Given the description of an element on the screen output the (x, y) to click on. 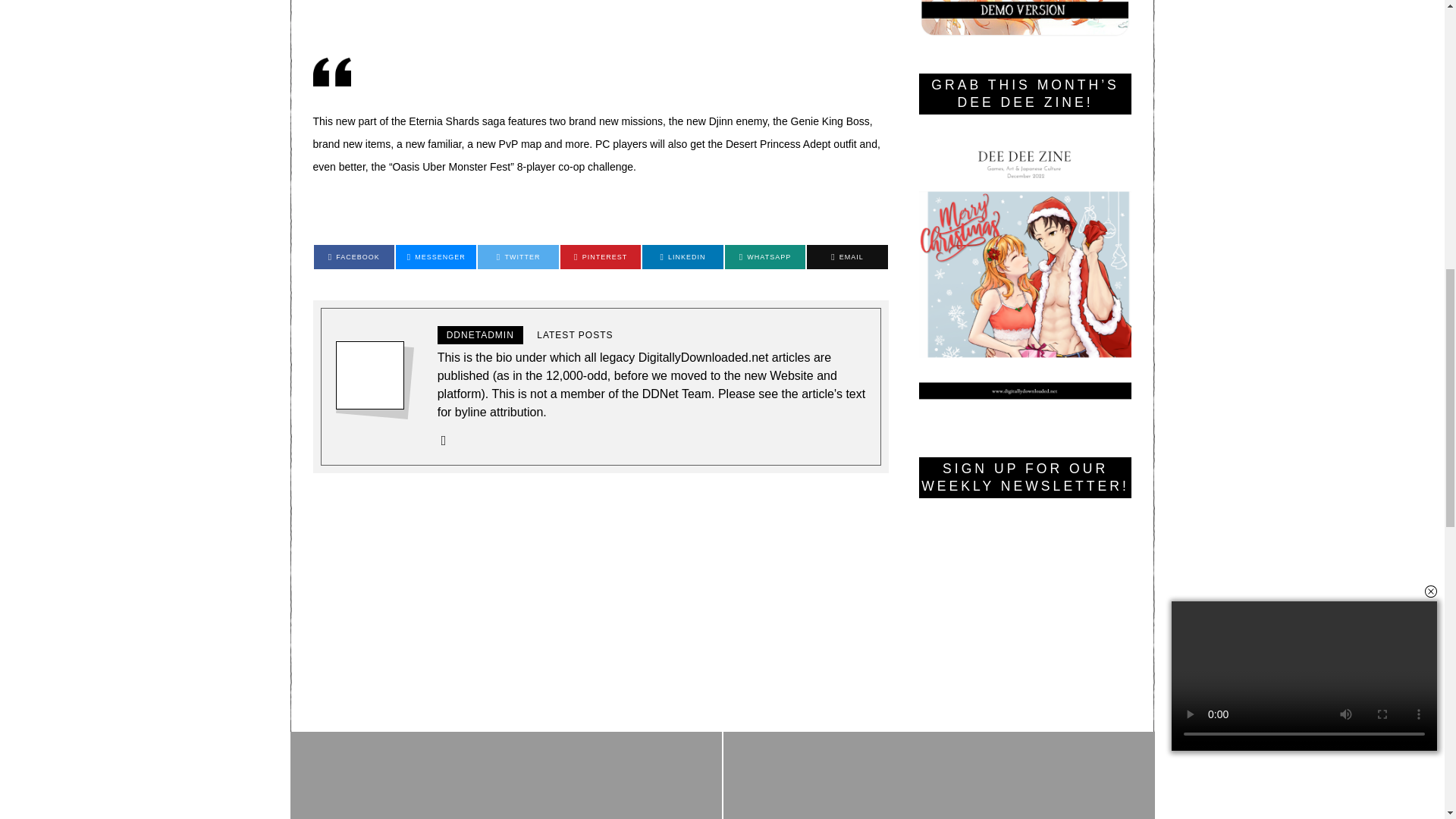
MESSENGER (436, 256)
FACEBOOK (1396, 20)
